Given the description of an element on the screen output the (x, y) to click on. 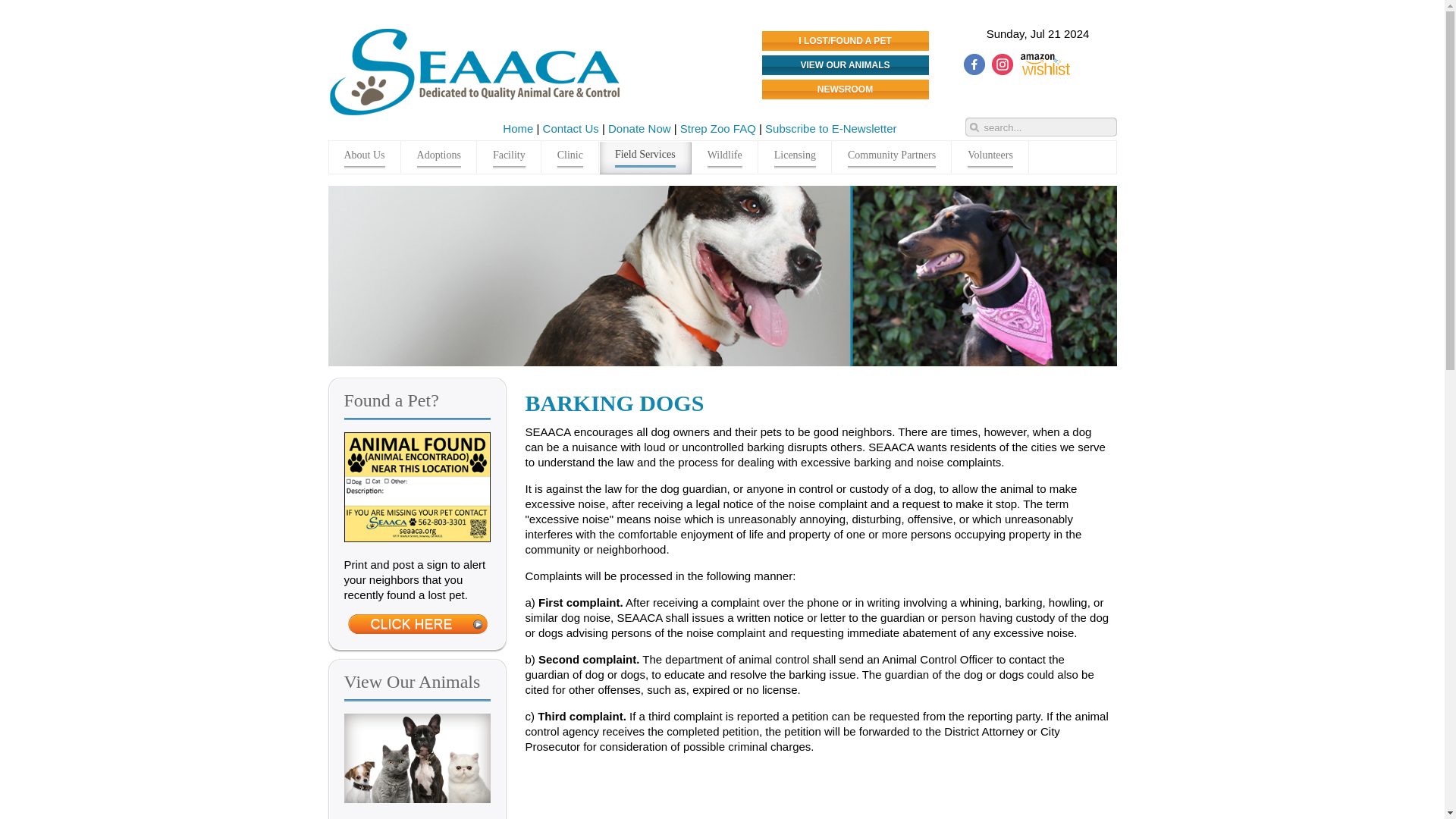
Contact Us (570, 128)
NEWSROOM (845, 88)
Adoptions (439, 156)
Facility (509, 156)
Donate Now (641, 128)
Subscribe to E-Newsletter (830, 128)
Strep Zoo FAQ (717, 128)
VIEW OUR ANIMALS (845, 65)
Home (517, 128)
About Us (365, 156)
Reset (3, 2)
Clinic (569, 156)
